Given the description of an element on the screen output the (x, y) to click on. 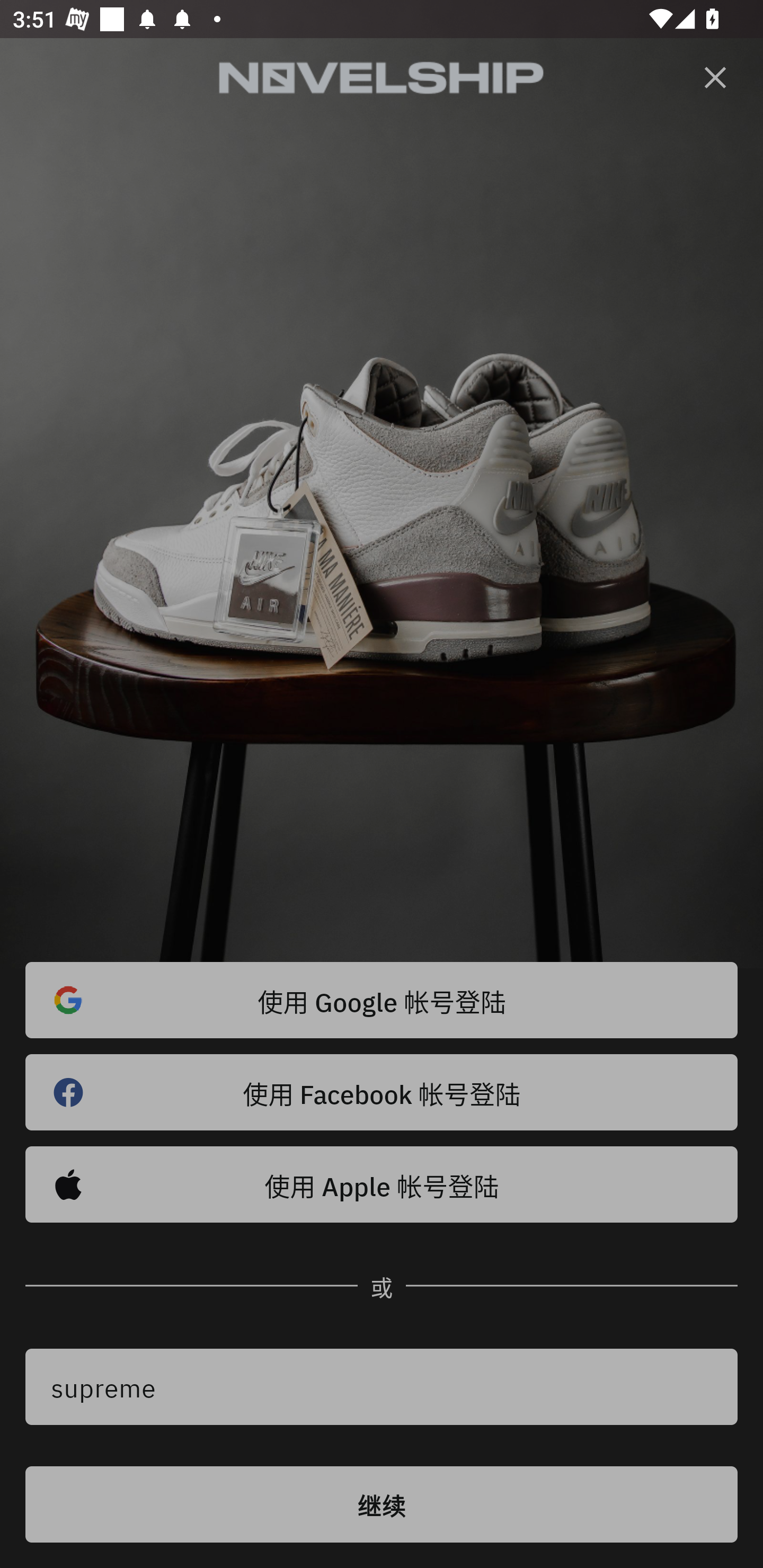
使用 Google 帐号登陆 (381, 1000)
使用 Facebook 帐号登陆 󰈌 (381, 1091)
 使用 Apple 帐号登陆 (381, 1184)
supreme (381, 1386)
继续 (381, 1504)
